Given the description of an element on the screen output the (x, y) to click on. 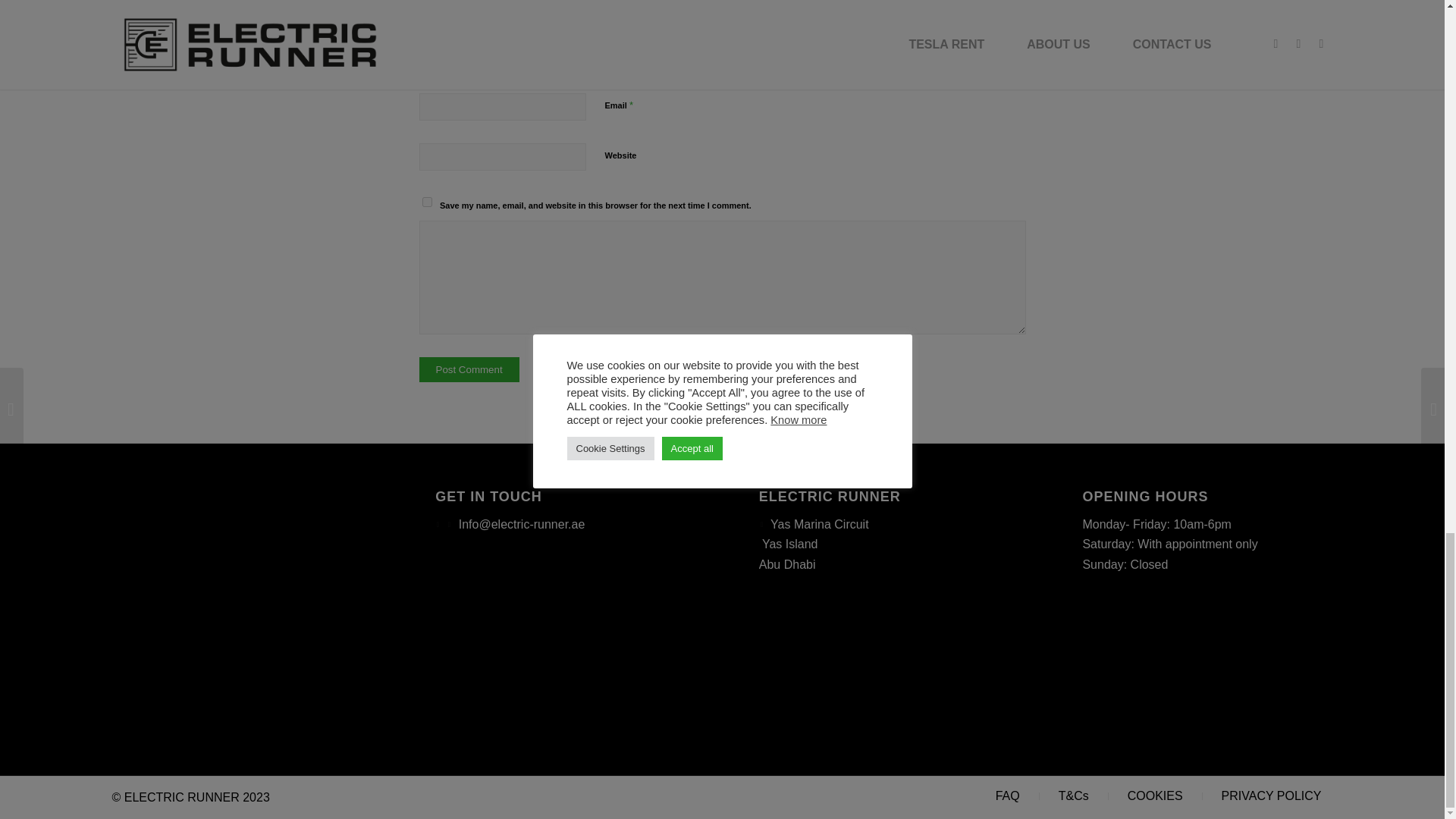
Post Comment (468, 369)
yes (426, 202)
PRIVACY POLICY (1271, 795)
FAQ (1007, 795)
COOKIES (1154, 795)
Post Comment (468, 369)
